Given the description of an element on the screen output the (x, y) to click on. 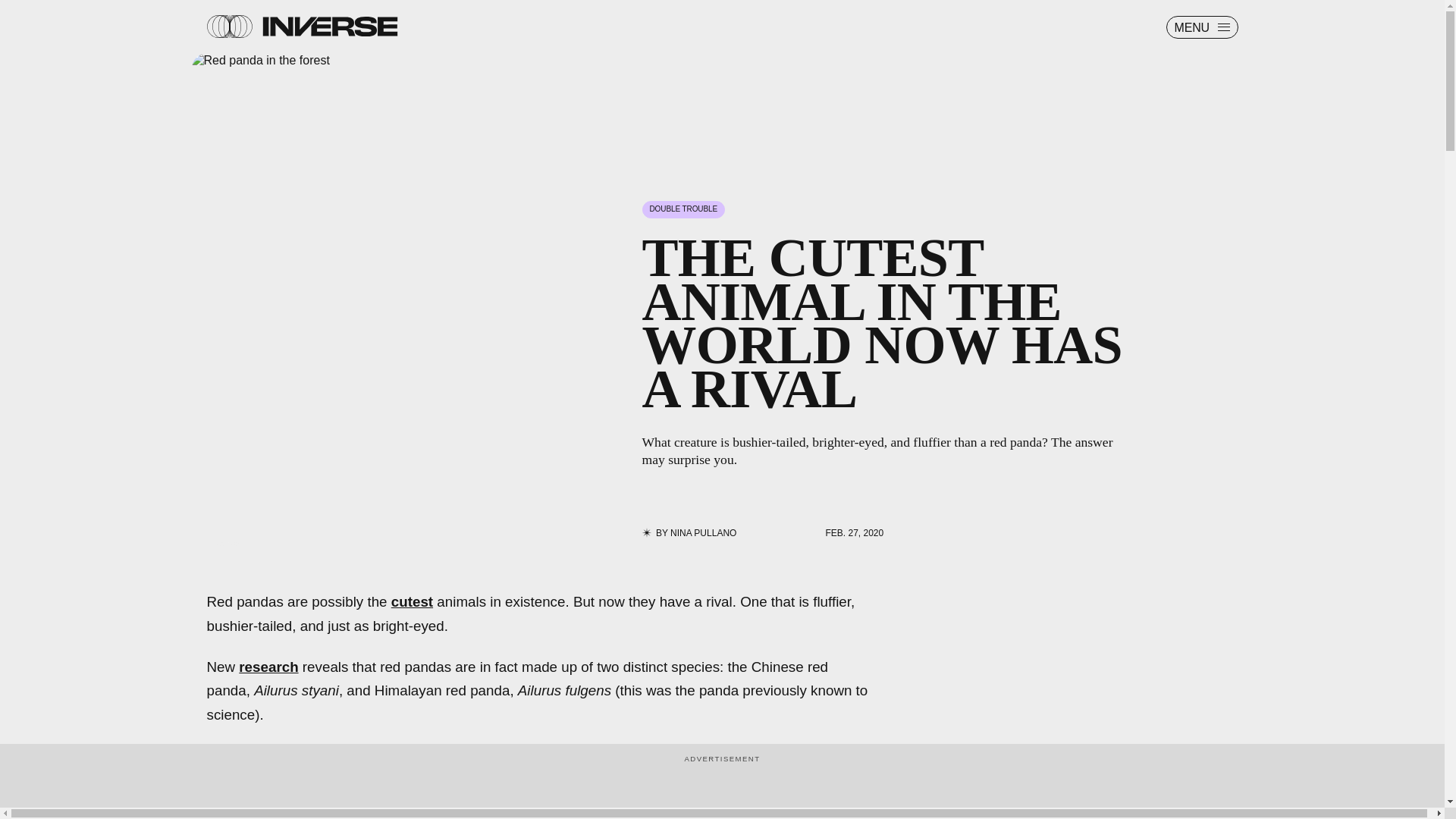
Inverse (328, 26)
cutest (411, 601)
NINA PULLANO (702, 532)
research (268, 666)
